Given the description of an element on the screen output the (x, y) to click on. 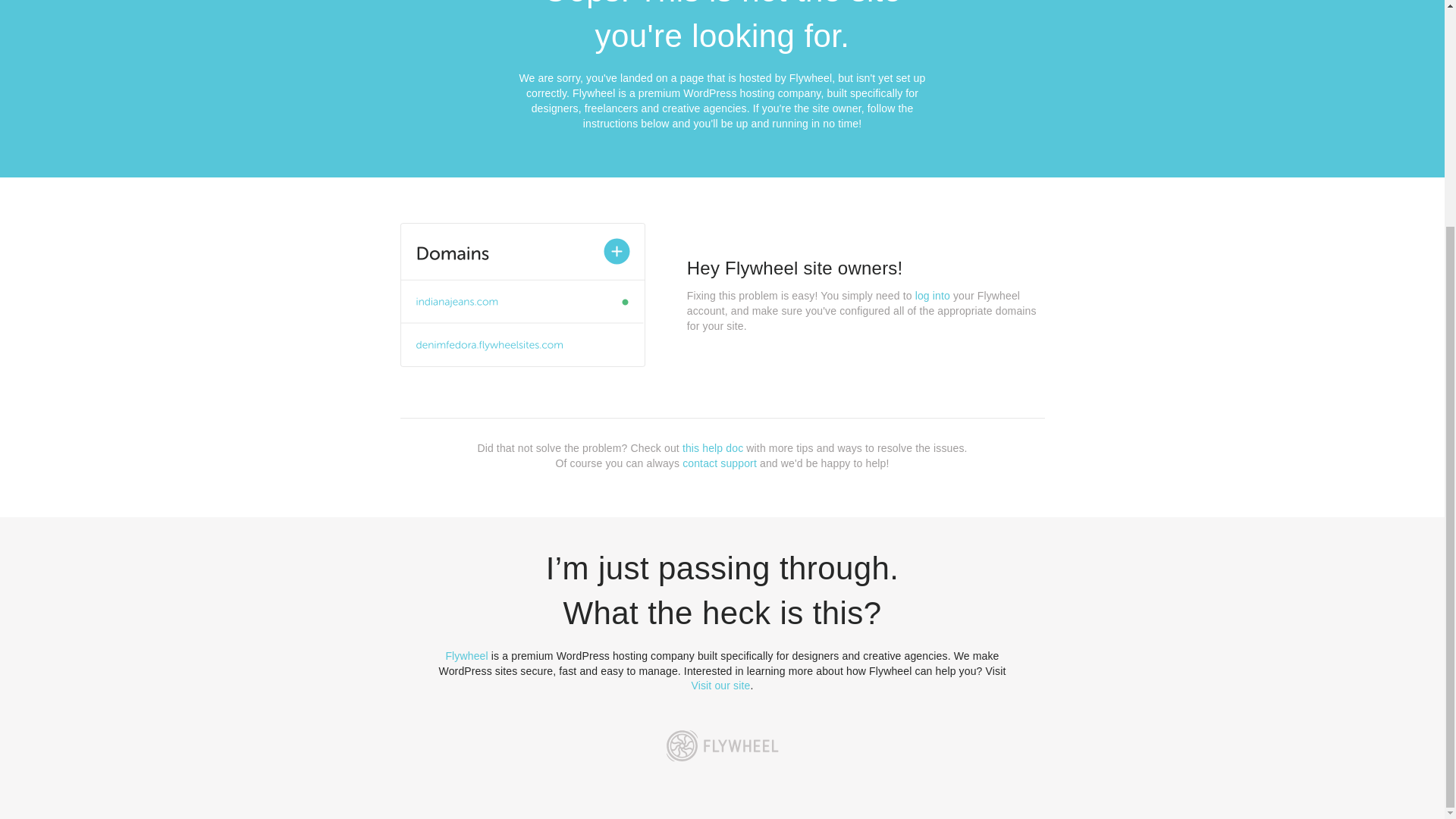
this help doc (712, 448)
contact support (719, 463)
Flywheel (466, 655)
log into (932, 295)
Visit our site (721, 685)
